Given the description of an element on the screen output the (x, y) to click on. 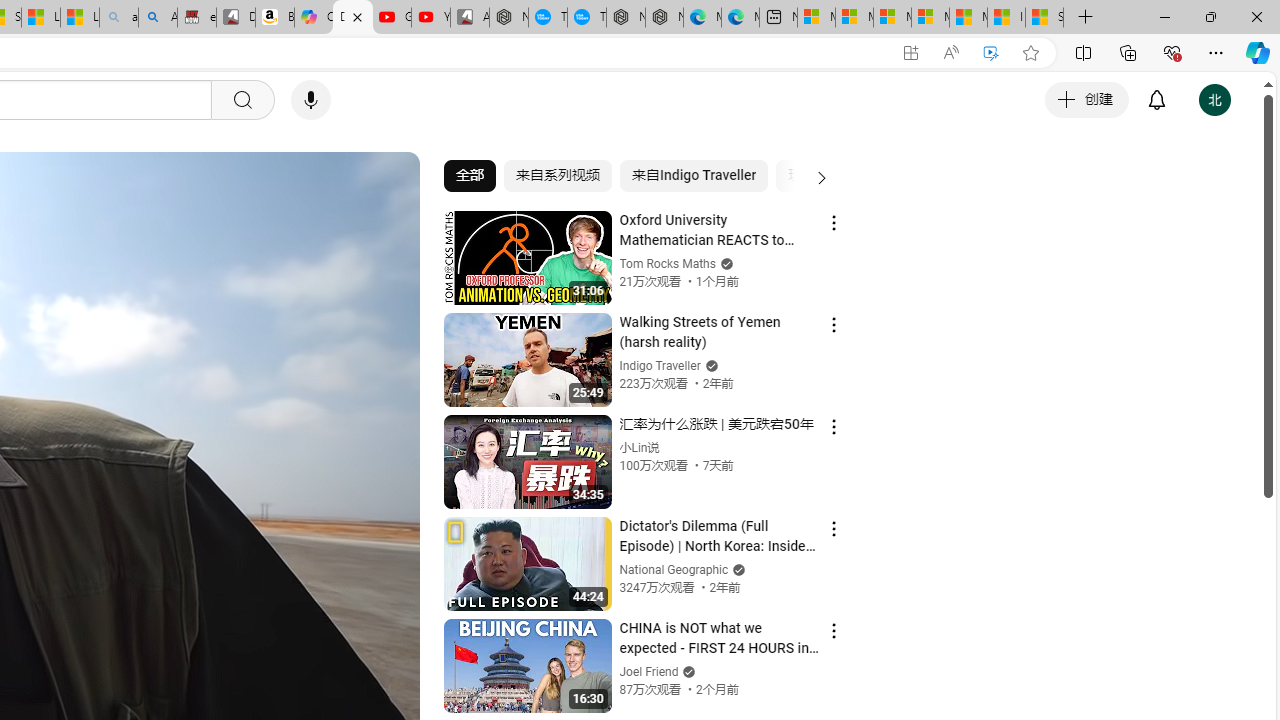
I Gained 20 Pounds of Muscle in 30 Days! | Watch (1006, 17)
Amazon Echo Dot PNG - Search Images (157, 17)
Enhance video (991, 53)
